Given the description of an element on the screen output the (x, y) to click on. 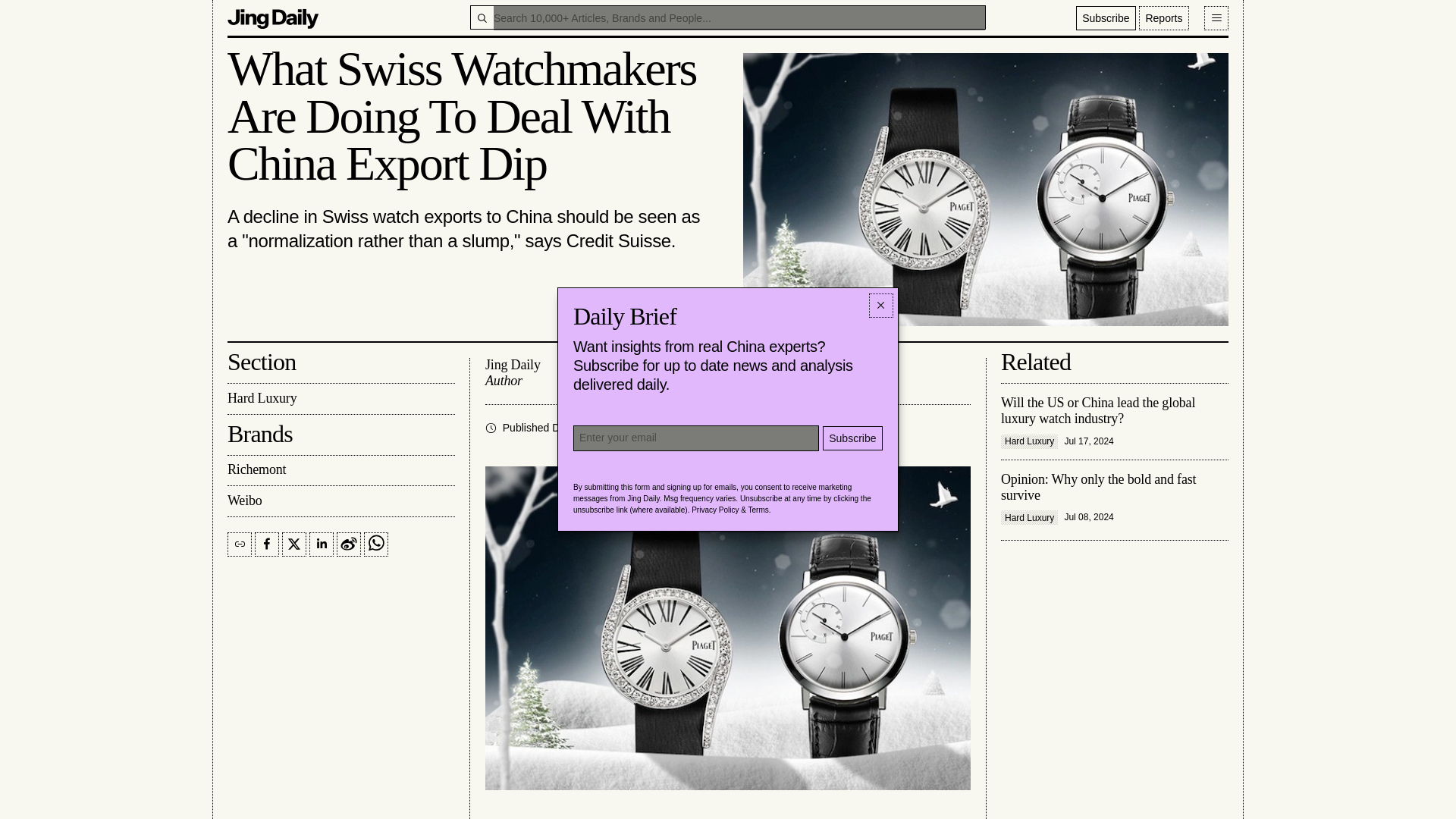
Weibo (340, 501)
Will the US or China lead the global luxury watch industry? (1114, 421)
Subscribe (1105, 17)
Jing Daily (272, 17)
Hard Luxury (340, 399)
Weibo (340, 501)
Hard Luxury (691, 427)
Reports (1163, 17)
Richemont (340, 470)
Richemont (340, 470)
Hard Luxury (691, 427)
Reports (1163, 17)
Opinion: Why only the bold and fast survive (1114, 498)
